Given the description of an element on the screen output the (x, y) to click on. 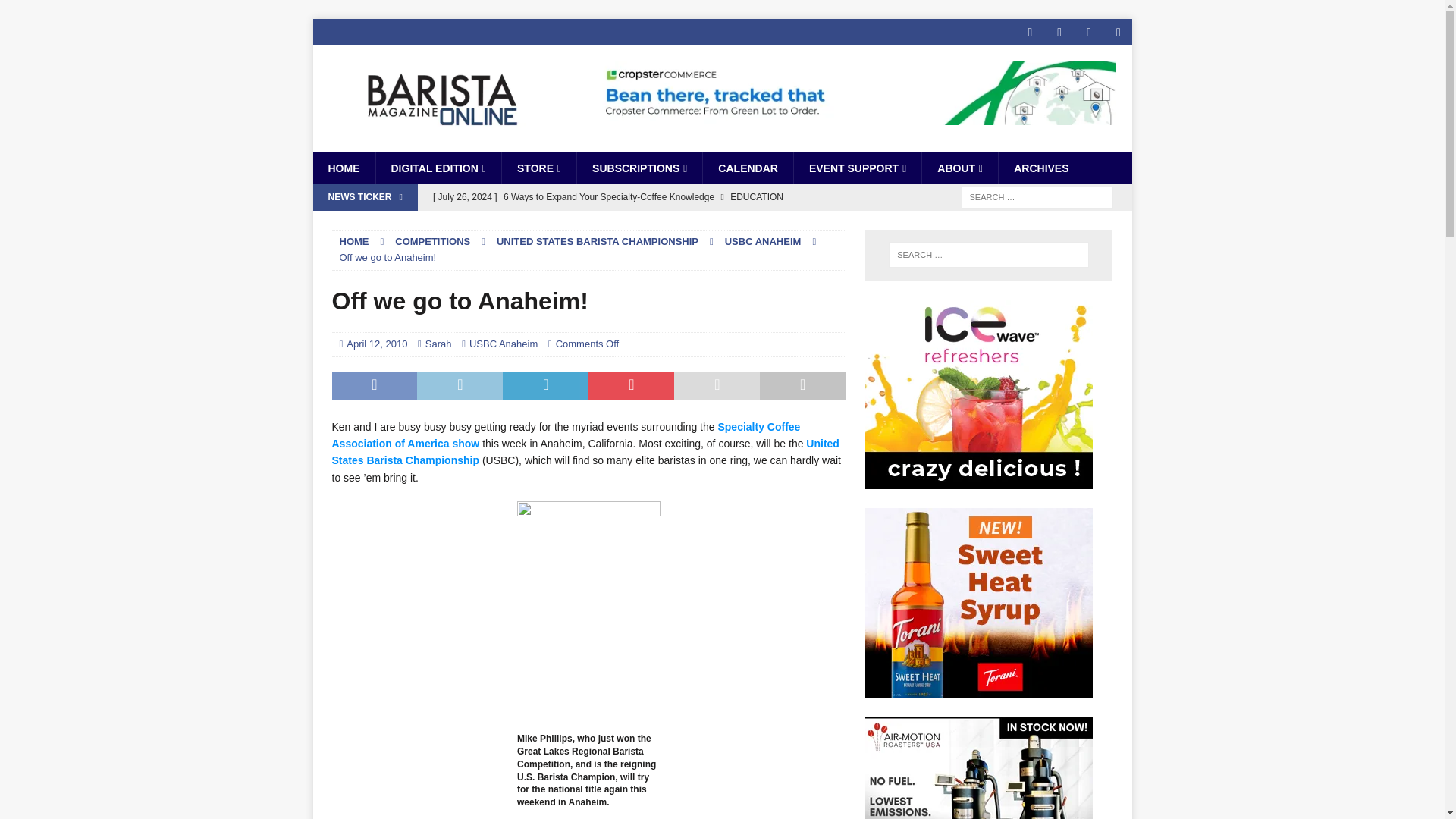
10 Minutes With Joe Yang: Part Two (634, 222)
6 Ways to Expand Your Specialty-Coffee Knowledge (634, 196)
HOME (343, 168)
DIGITAL EDITION (437, 168)
